Given the description of an element on the screen output the (x, y) to click on. 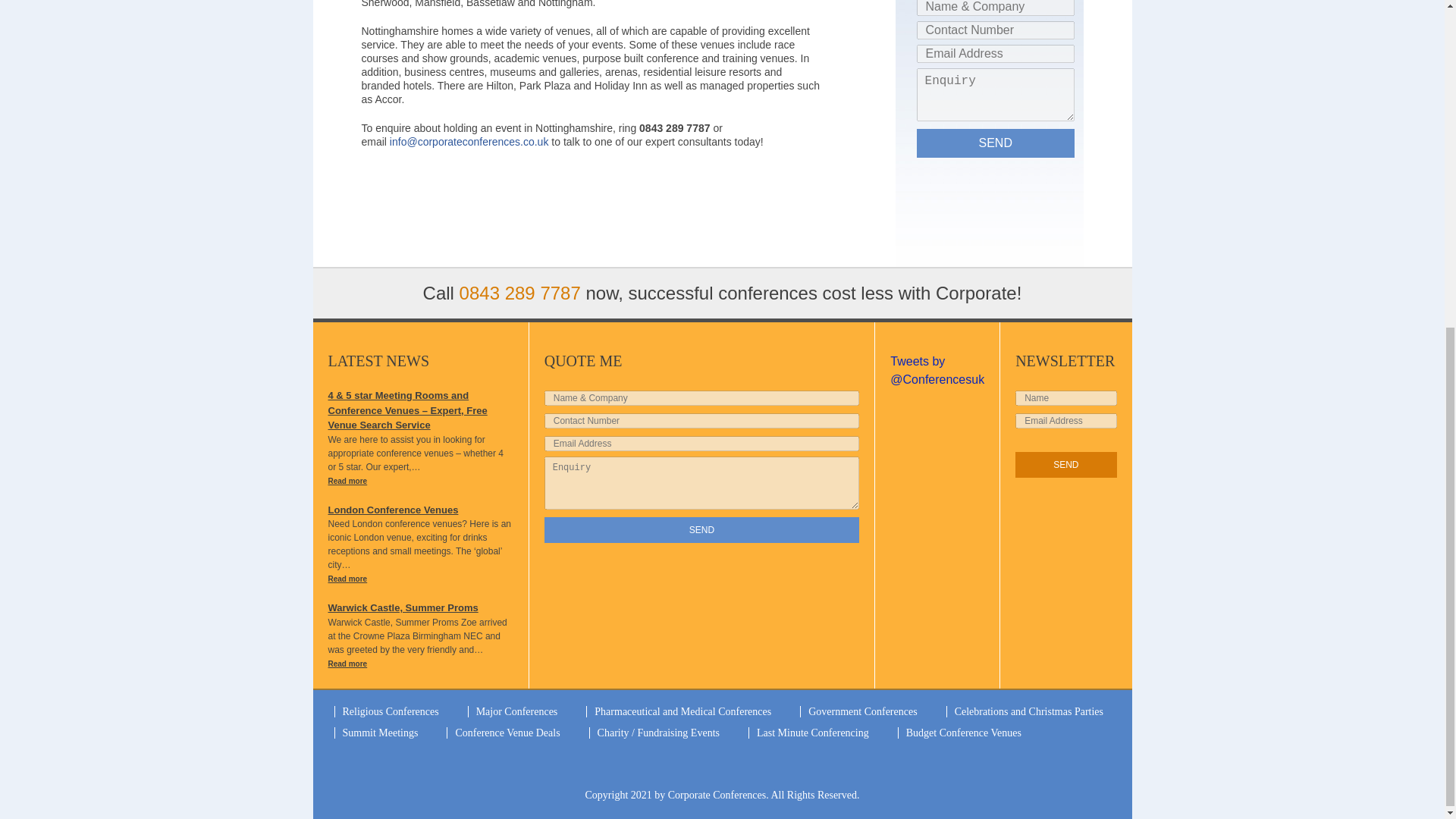
Send (702, 529)
Send (995, 143)
Send (1065, 464)
